Given the description of an element on the screen output the (x, y) to click on. 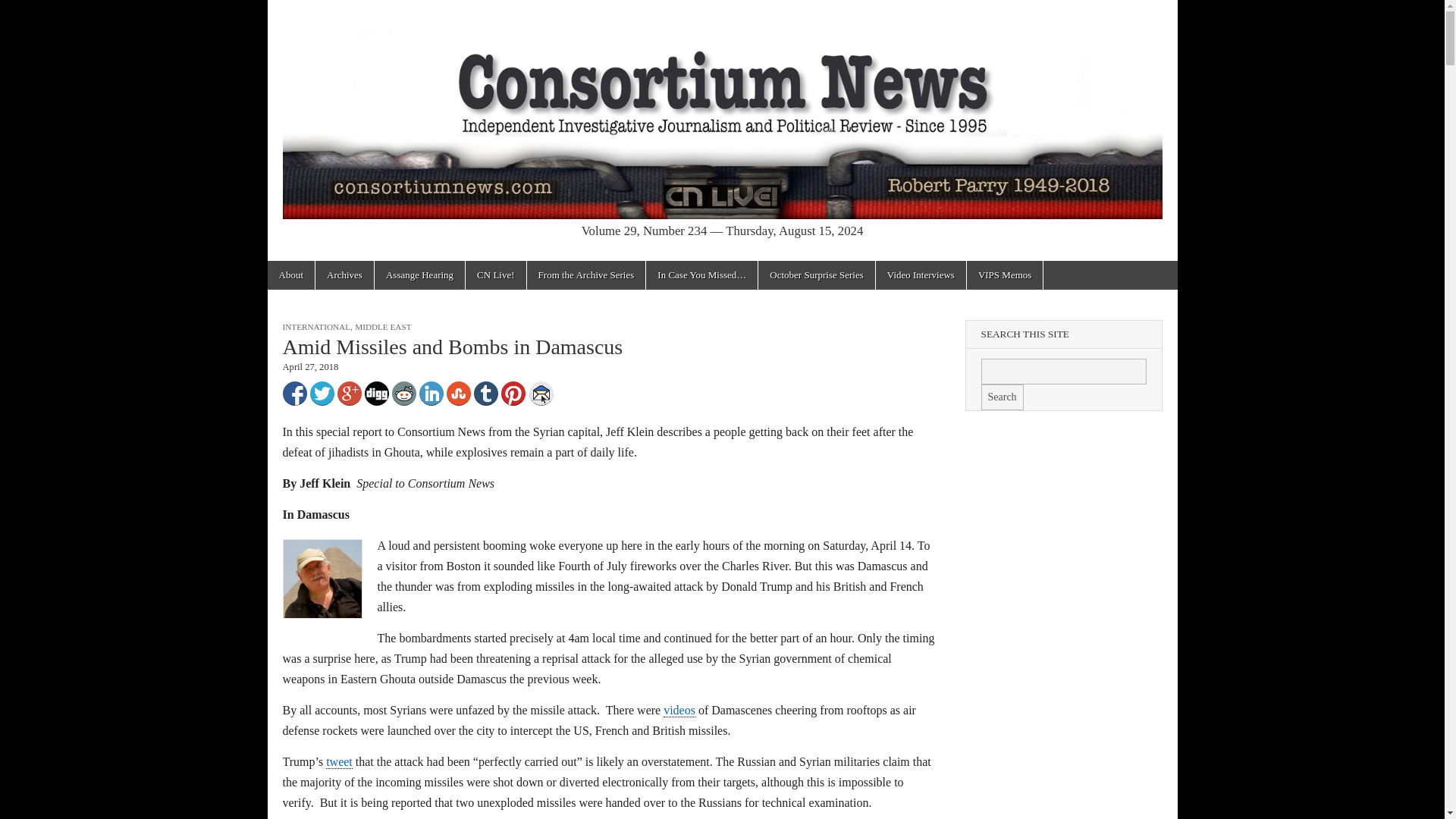
Share to LinkedIn (430, 393)
About (290, 275)
October Surprise Series (816, 275)
Assange Hearing (419, 275)
MIDDLE EAST (382, 326)
videos (679, 711)
CN Live! (495, 275)
Share to Digg (376, 393)
Share to Tumblr (485, 393)
